Given the description of an element on the screen output the (x, y) to click on. 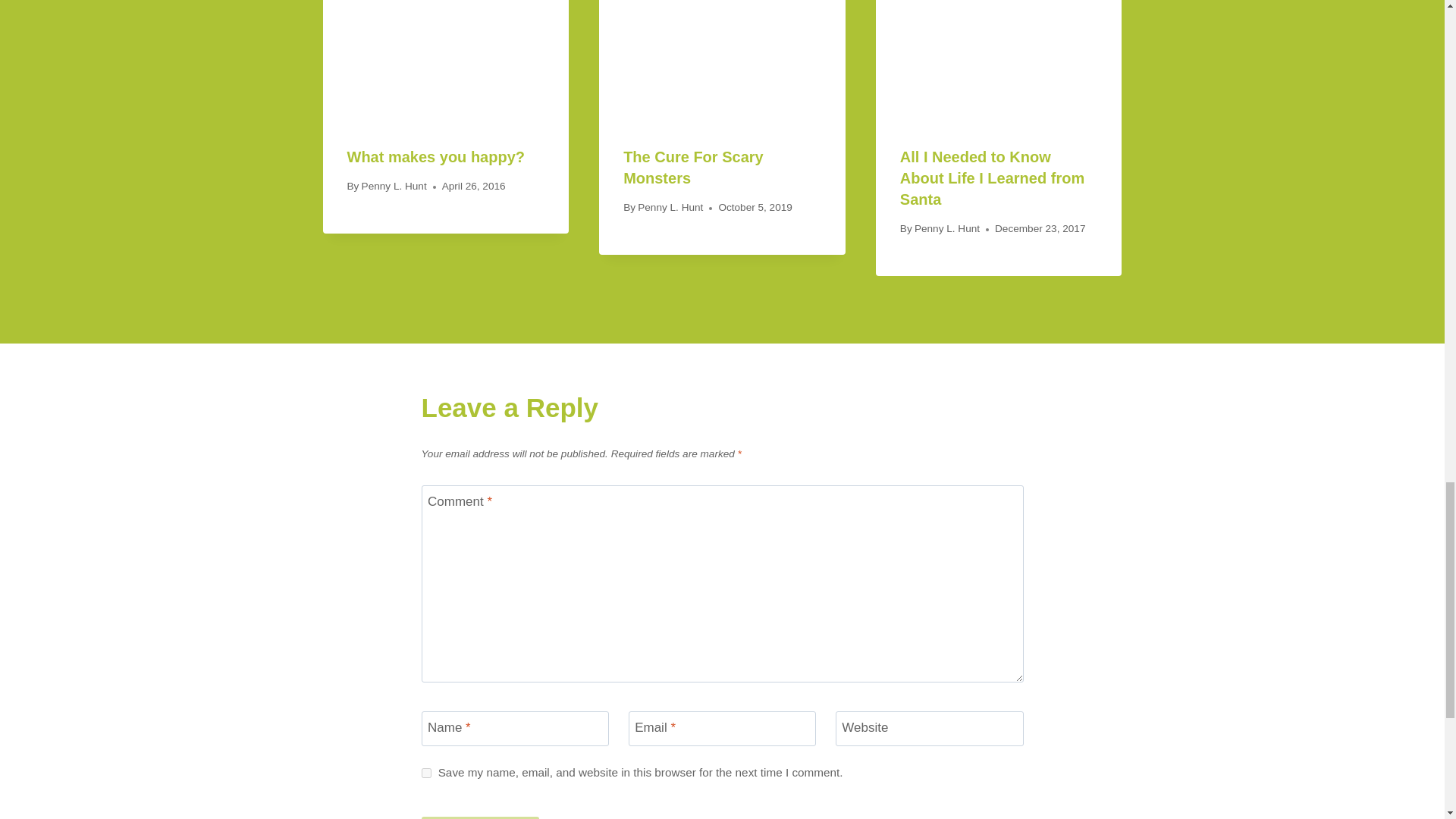
Penny L. Hunt (670, 206)
Penny L. Hunt (393, 185)
Post Comment (480, 817)
yes (426, 773)
The Cure For Scary Monsters (692, 167)
What makes you happy? (436, 156)
